Given the description of an element on the screen output the (x, y) to click on. 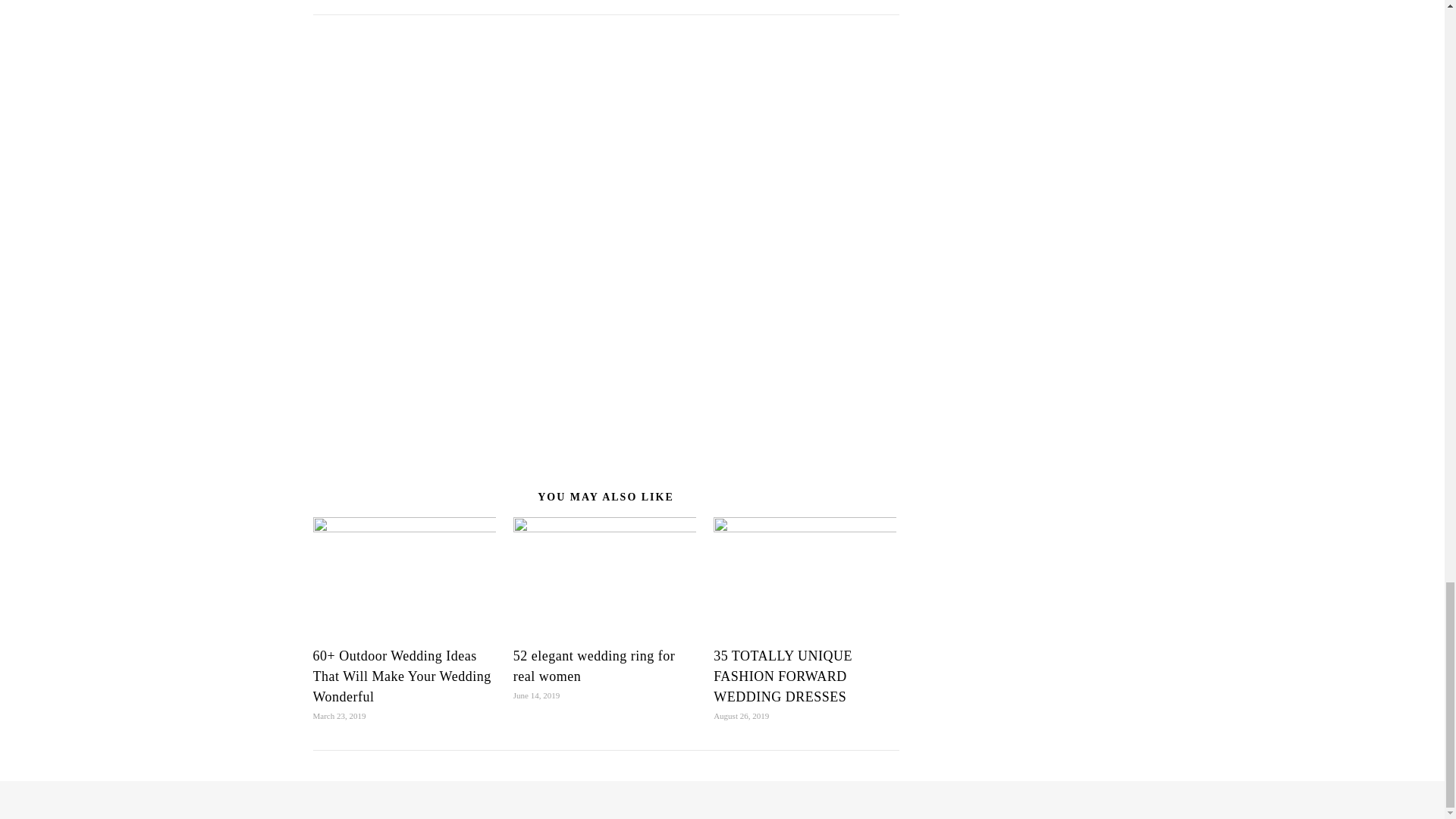
Advertisement (605, 121)
